Given the description of an element on the screen output the (x, y) to click on. 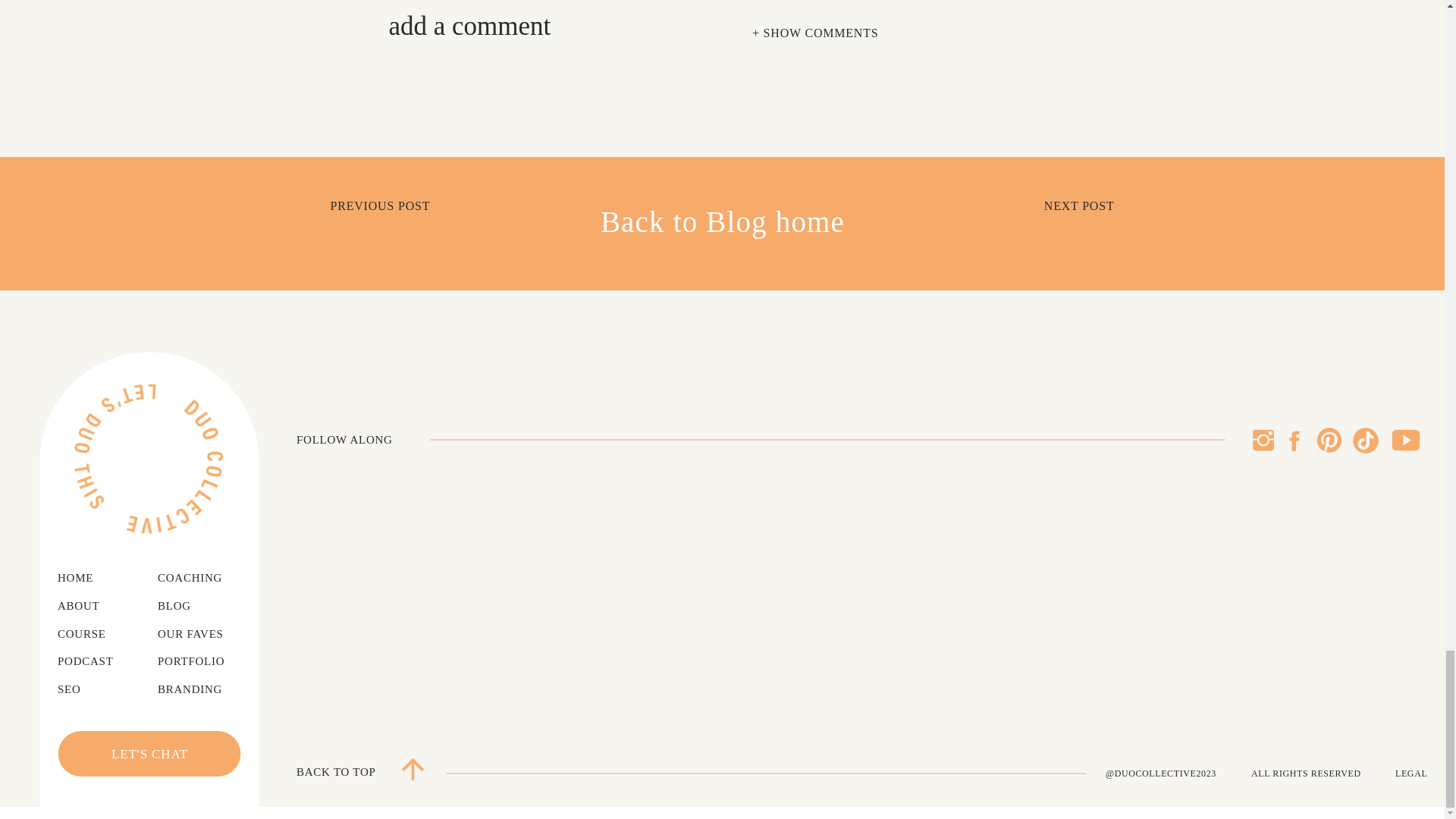
BLOG (178, 606)
COACHING (203, 578)
OUR FAVES (200, 634)
COURSE (91, 634)
ABOUT (88, 606)
Back to Blog home (722, 223)
HOME (85, 578)
BRANDING (200, 689)
